Given the description of an element on the screen output the (x, y) to click on. 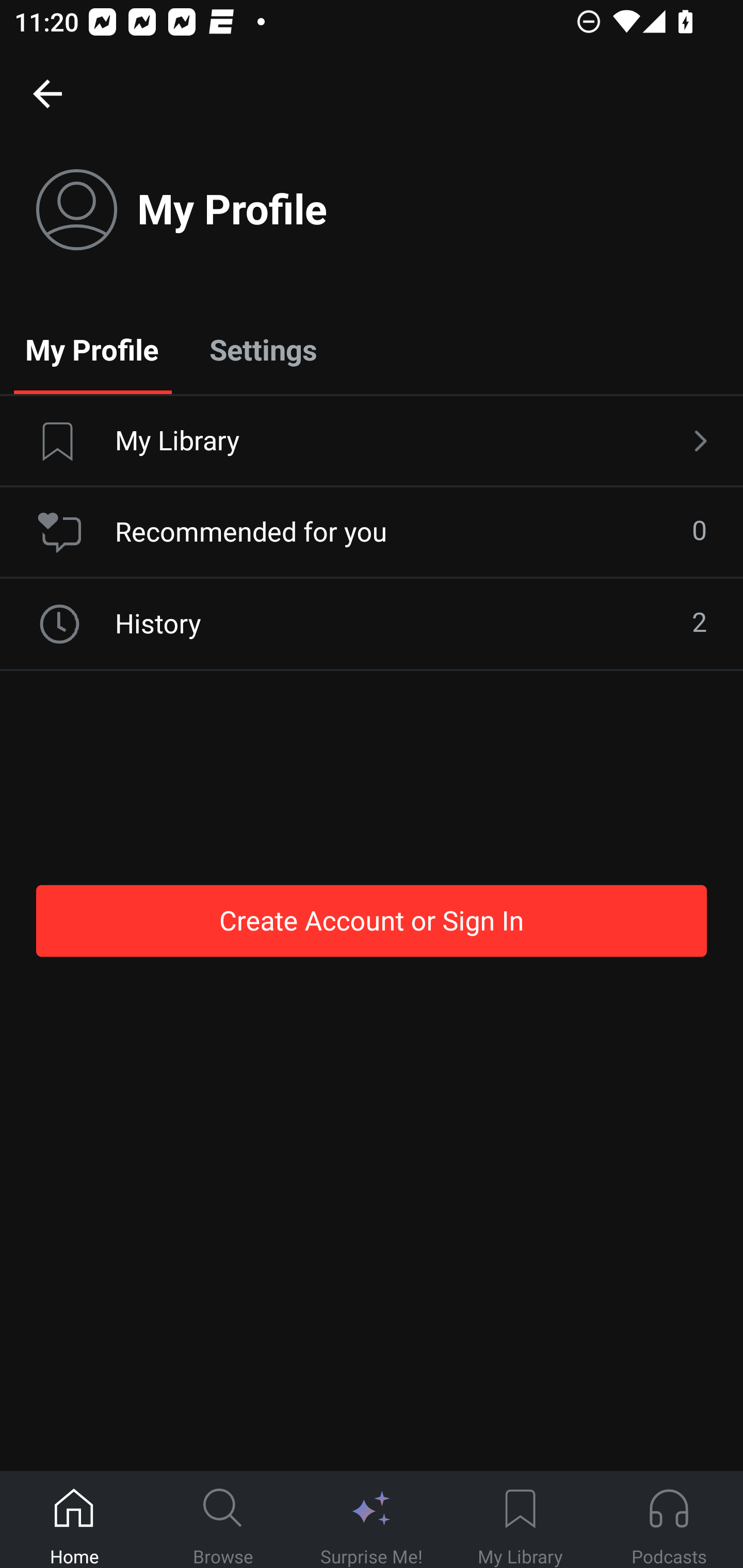
Home, back (47, 92)
My Profile (92, 348)
Settings (263, 348)
My Library (371, 441)
Recommended for you 0 (371, 532)
History 2 (371, 623)
Create Account or Sign In (371, 920)
Home (74, 1520)
Browse (222, 1520)
Surprise Me! (371, 1520)
My Library (519, 1520)
Podcasts (668, 1520)
